Given the description of an element on the screen output the (x, y) to click on. 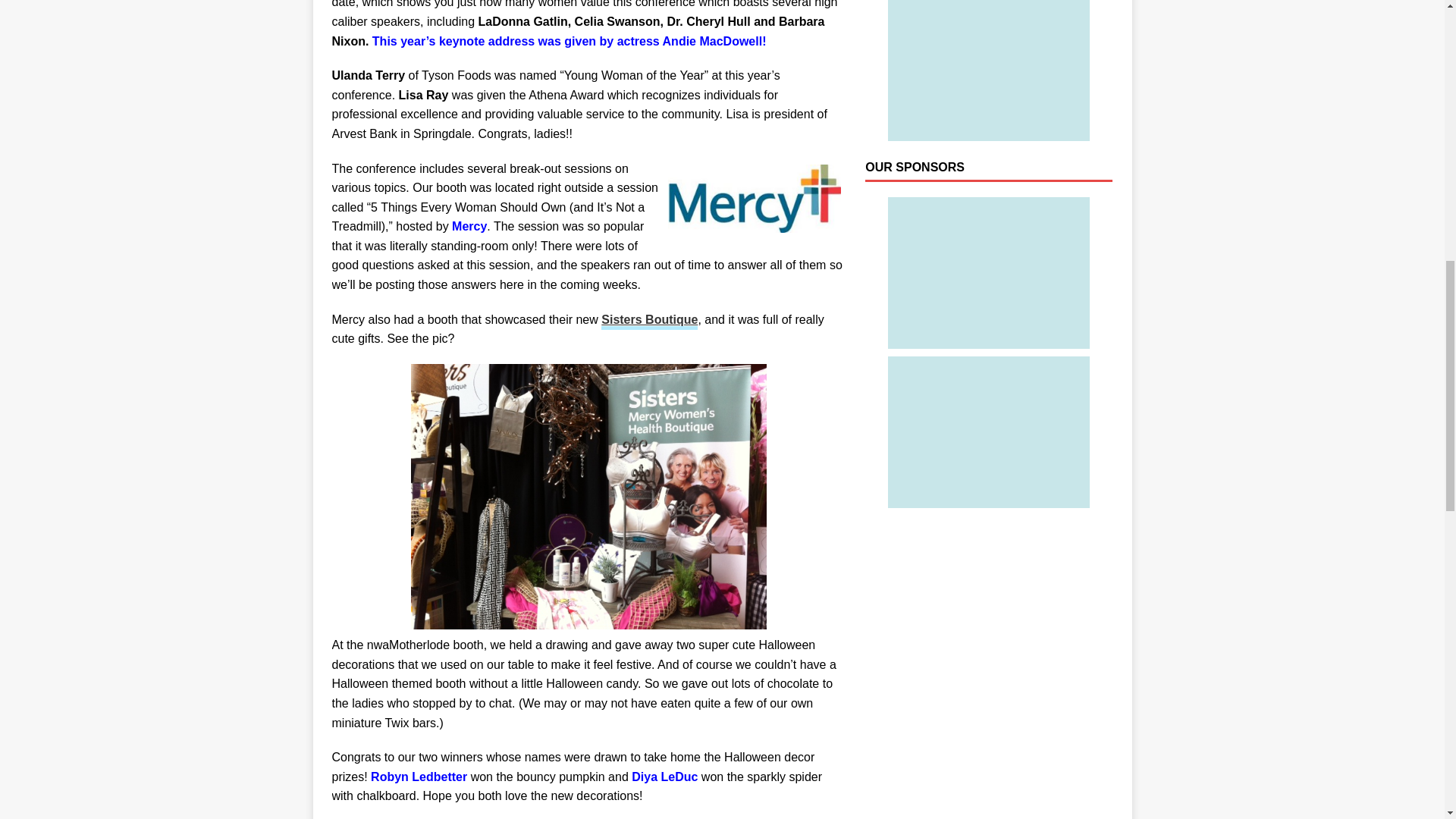
click to visit website (649, 321)
Sisters Boutique (649, 321)
